Given the description of an element on the screen output the (x, y) to click on. 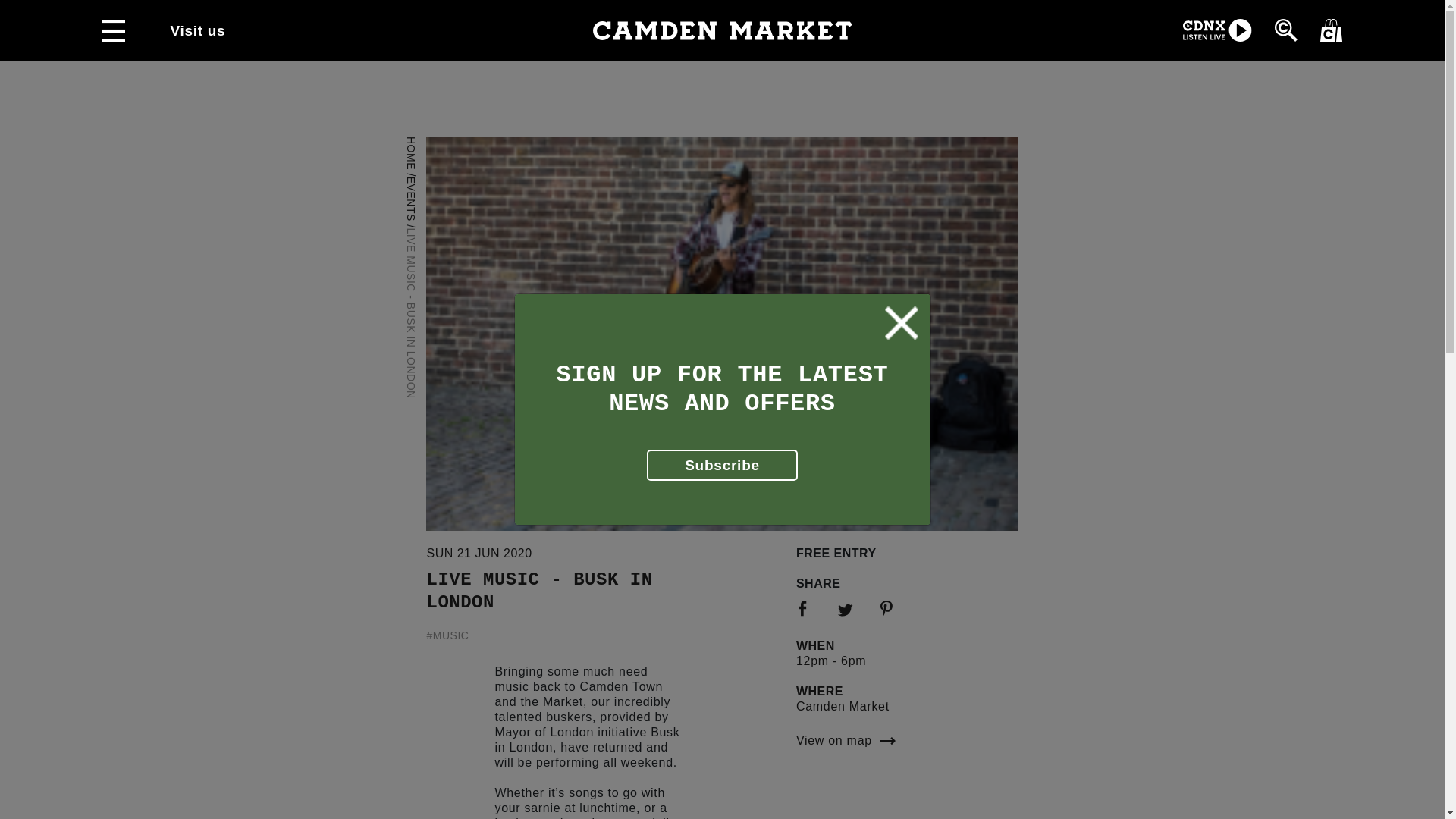
Share on Twitter (849, 611)
Share on Pinterest (890, 609)
Visit us (197, 30)
View on map (906, 738)
Shop online (1330, 29)
Share on Facebook (807, 609)
HOME (422, 142)
EVENTS (428, 182)
